Given the description of an element on the screen output the (x, y) to click on. 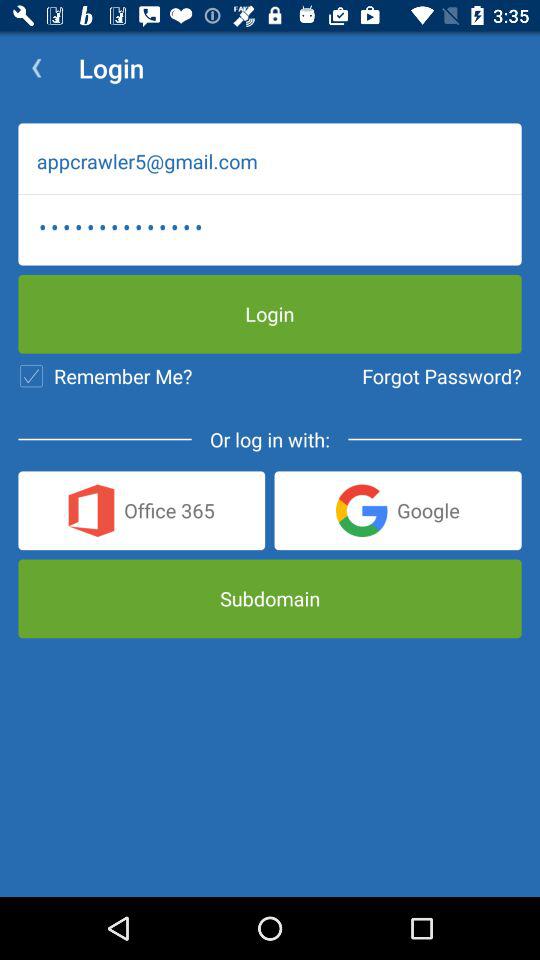
choose item above the appcrawler5@gmail.com item (36, 68)
